Given the description of an element on the screen output the (x, y) to click on. 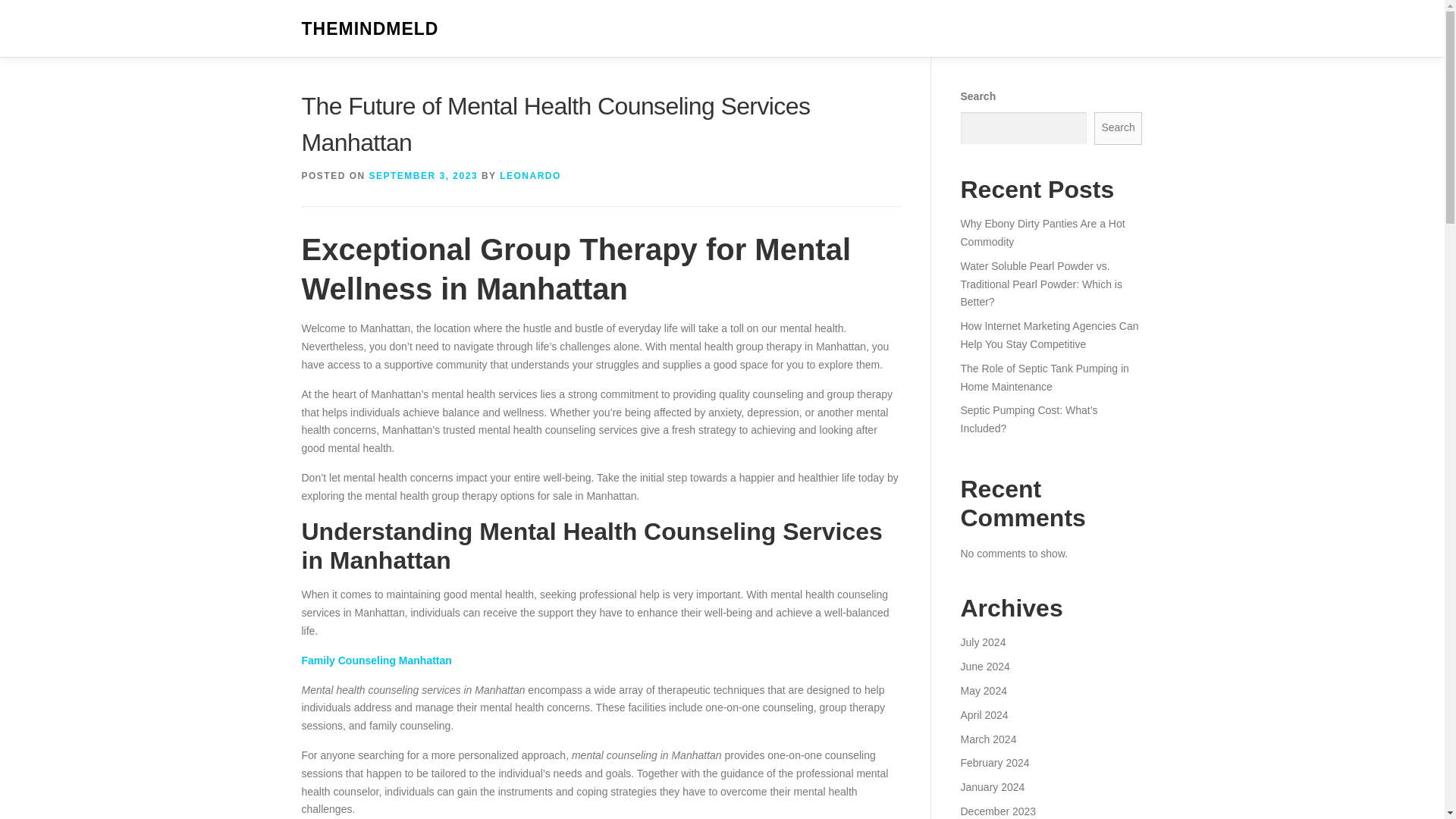
January 2024 (992, 811)
LEONARDO (529, 175)
Search (1118, 128)
Family Counseling Manhattan (376, 660)
March 2024 (987, 762)
Attributes of a Leading Search Engine Optimization Firm (1048, 275)
April 2024 (983, 738)
Why Ebony Dirty Panties Are a Hot Commodity (1041, 419)
THEMINDMELD (370, 29)
Grease Trap Pumping Service: A Step-by-Step Guide (1036, 232)
February 2024 (994, 787)
SEPTEMBER 3, 2023 (424, 175)
July 2024 (982, 666)
June 2024 (984, 690)
